Given the description of an element on the screen output the (x, y) to click on. 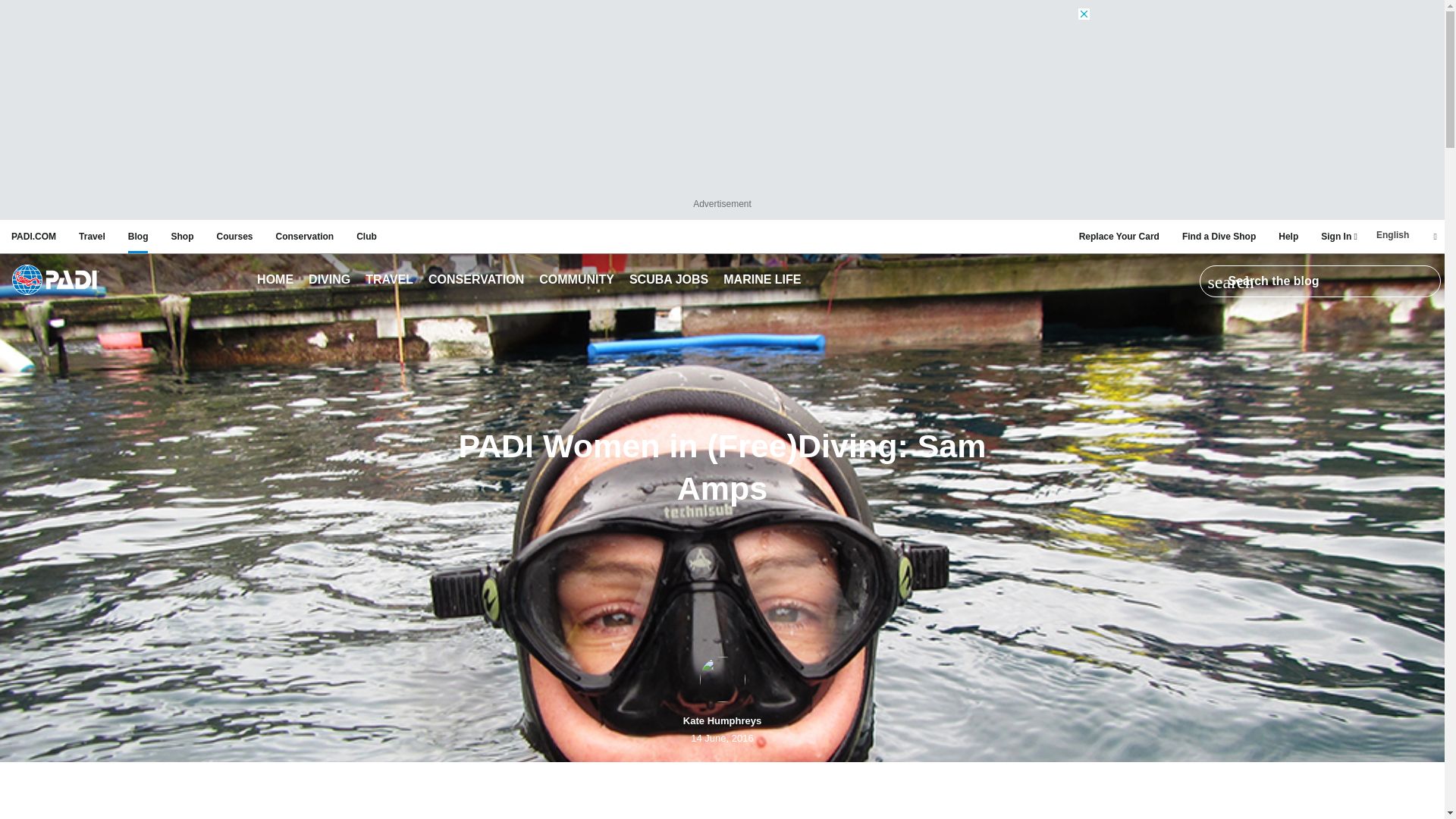
Travel (389, 280)
Conservation (305, 236)
Find a Dive Shop (1218, 236)
Diving (329, 280)
Home (55, 281)
Community (576, 280)
DIVING (329, 280)
SCUBA JOBS (668, 280)
COMMUNITY (576, 280)
Scuba Jobs (668, 280)
